Given the description of an element on the screen output the (x, y) to click on. 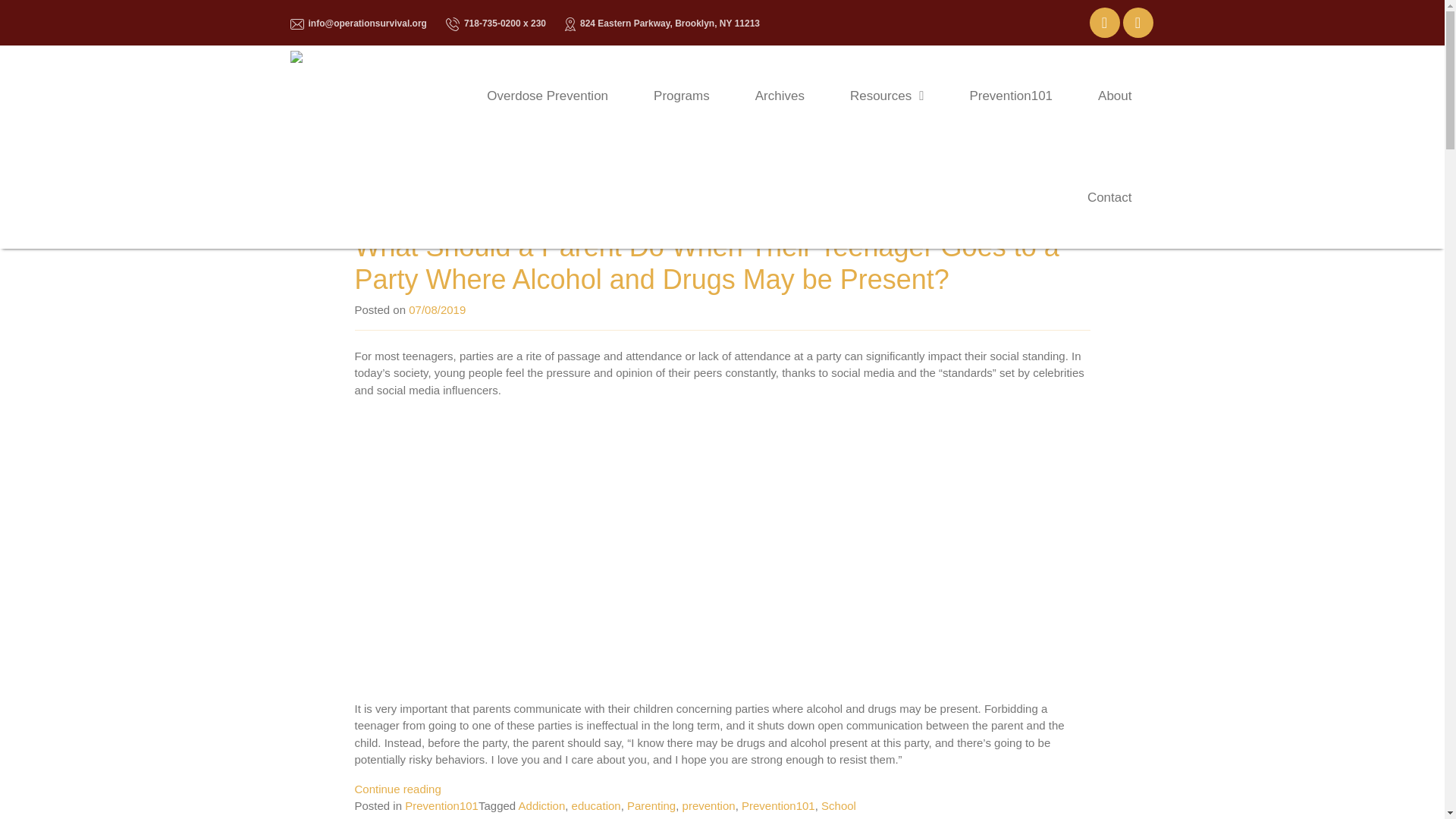
Archives (779, 96)
Addiction (542, 805)
718-735-0200 x 230 (495, 23)
Prevention101 (1010, 96)
School (838, 805)
Parenting (651, 805)
Programs (681, 96)
Prevention101 (441, 805)
prevention (708, 805)
Overdose Prevention (547, 96)
education (596, 805)
Resources (886, 96)
Prevention101 (778, 805)
